Given the description of an element on the screen output the (x, y) to click on. 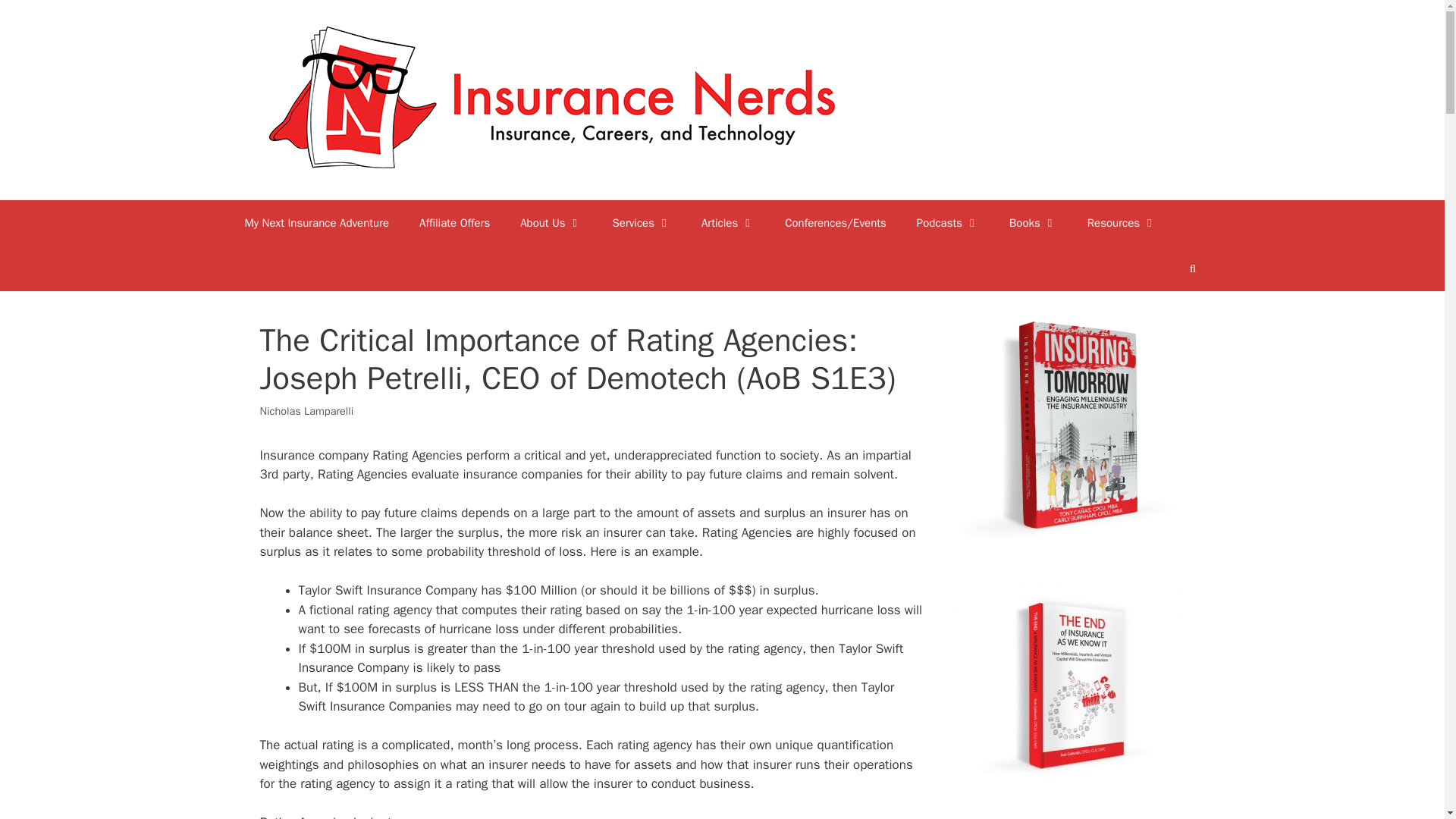
My Next Insurance Adventure (316, 222)
Podcasts (947, 222)
Services (640, 222)
Nicholas Lamparelli (306, 410)
About Us (550, 222)
Books (1032, 222)
Articles (727, 222)
Affiliate Offers (454, 222)
